Given the description of an element on the screen output the (x, y) to click on. 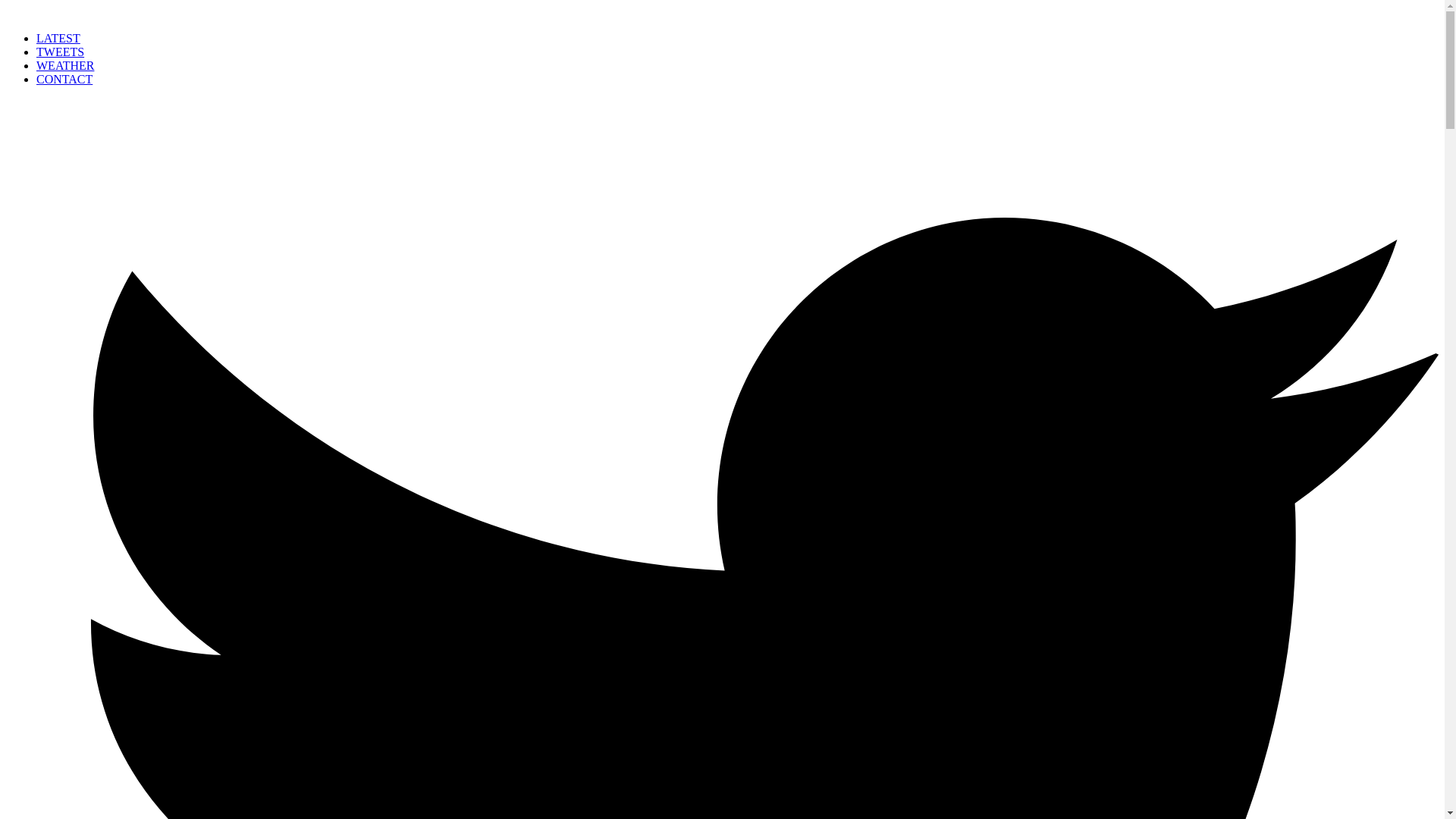
WEATHER (65, 65)
CONTACT (64, 78)
LATEST (58, 38)
TWEETS (60, 51)
